Given the description of an element on the screen output the (x, y) to click on. 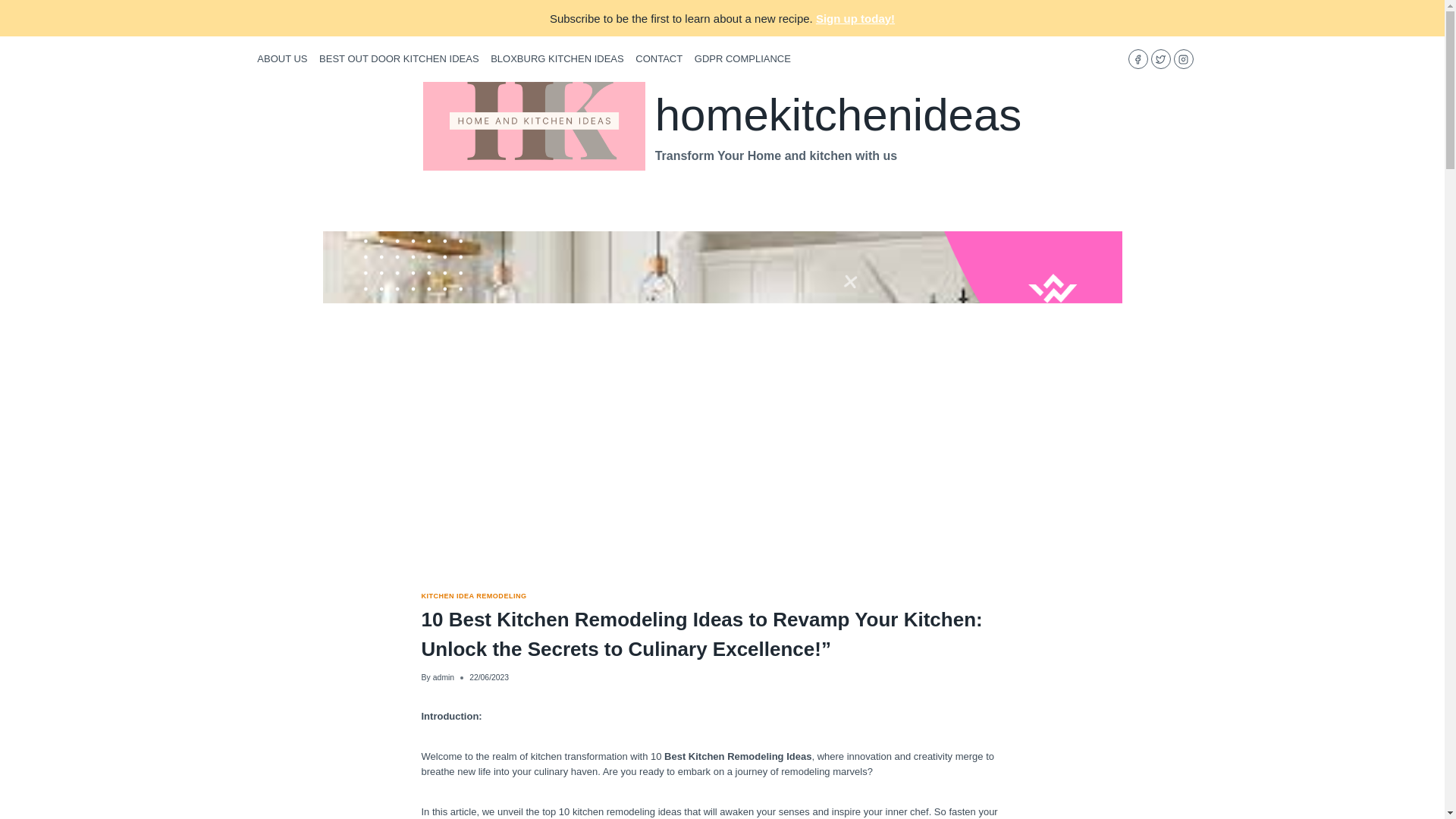
CONTACT (657, 58)
Sign up today! (855, 18)
admin (443, 677)
BEST OUT DOOR KITCHEN IDEAS (398, 58)
Sign up today! (855, 18)
KITCHEN IDEA REMODELING (474, 595)
BLOXBURG KITCHEN IDEAS (556, 58)
GDPR COMPLIANCE (742, 58)
ABOUT US (282, 58)
